Given the description of an element on the screen output the (x, y) to click on. 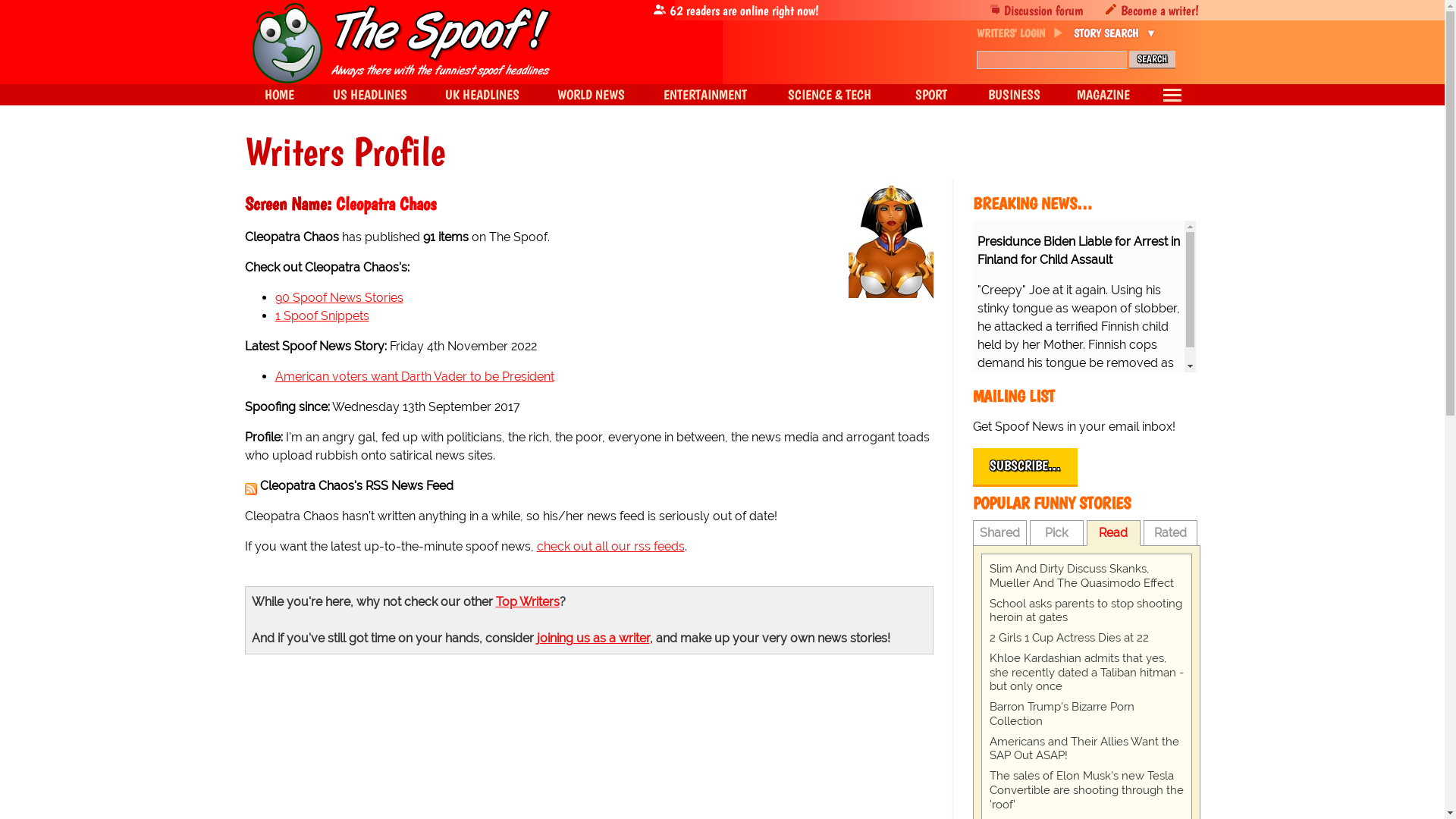
Spoof News Sport Headlines (930, 94)
Spoof News World News (590, 94)
90 Spoof News Stories (339, 297)
Satire headlines (278, 94)
Spoof News Magazine (1102, 94)
2 Girls 1 Cup Actress Dies at 22 (1085, 637)
School asks parents to stop shooting heroin at gates (1085, 611)
Spoof News US Headlines (370, 94)
joining us as a writer (593, 637)
